Given the description of an element on the screen output the (x, y) to click on. 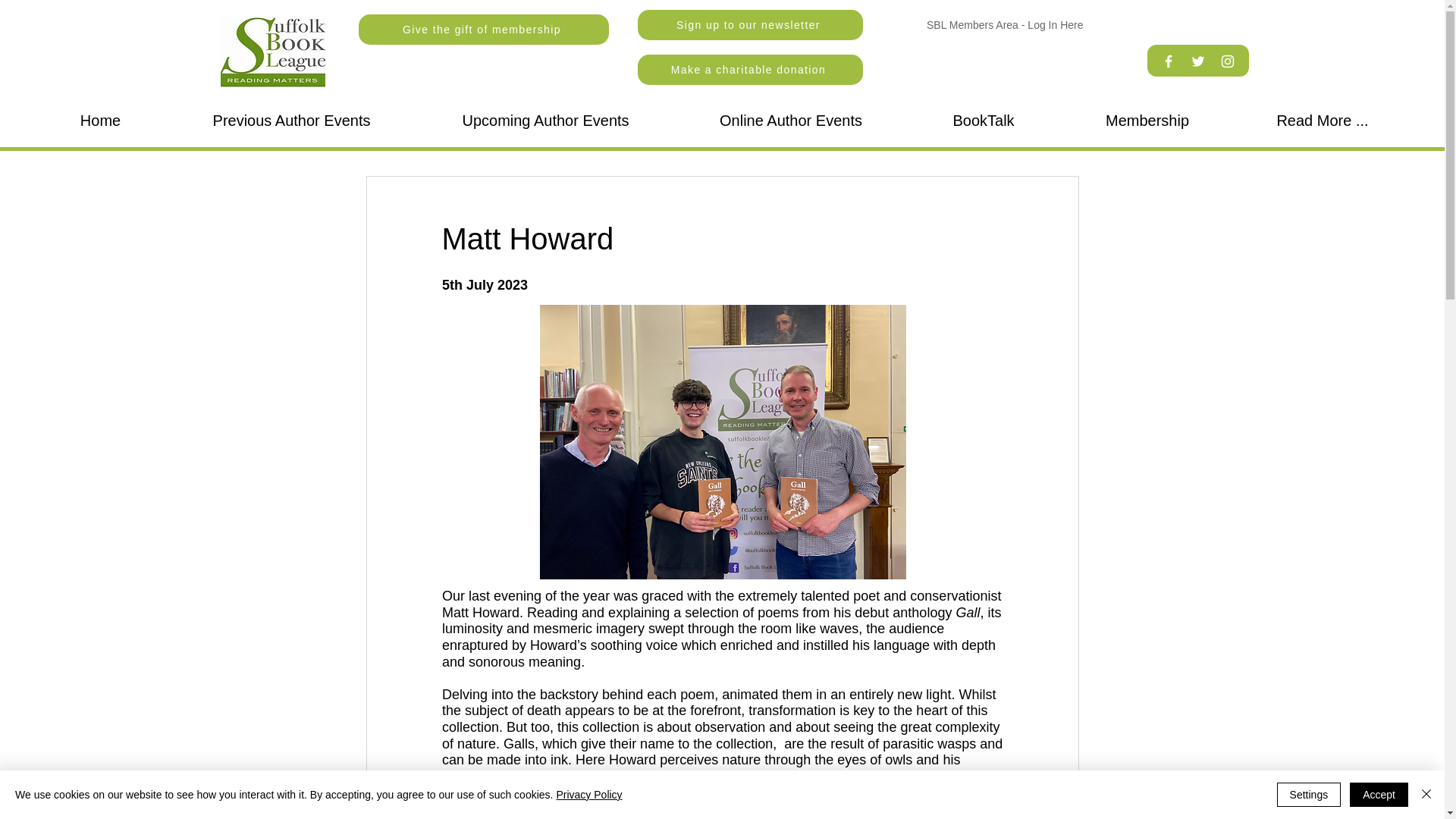
Sign up to our newsletter (749, 24)
Previous Author Events (291, 121)
Give the gift of membership (483, 29)
Suffolk Book League logo.jpg (271, 51)
SBL Members Area - Log In Here (1004, 25)
Accept (1378, 794)
Membership (1146, 121)
Settings (1308, 794)
Make a charitable donation (749, 69)
Home (100, 121)
